Given the description of an element on the screen output the (x, y) to click on. 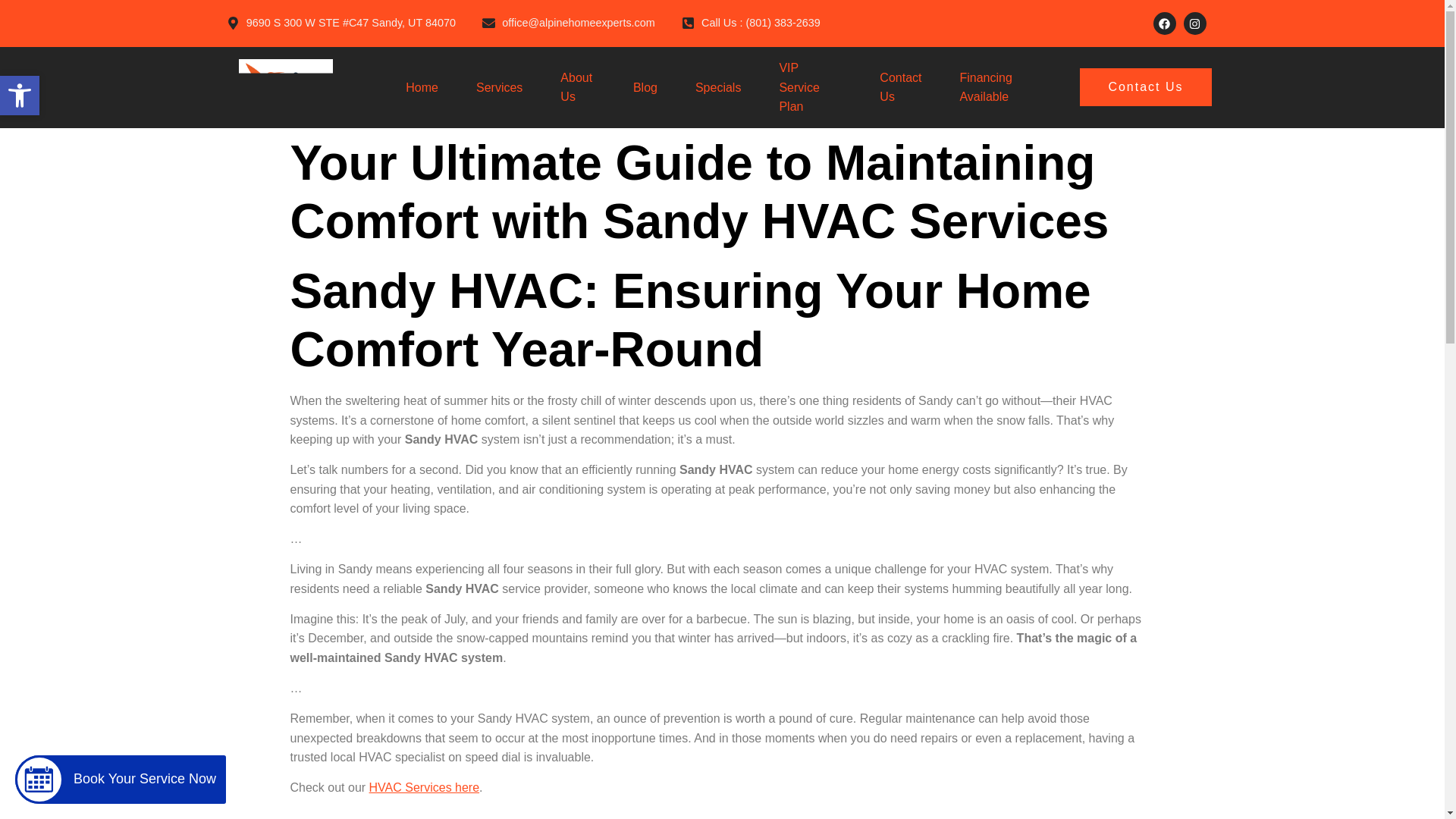
Contact Us (1145, 86)
Financing Available (994, 87)
HVAC Services here (424, 787)
Our Services (424, 787)
Accessibility Tools (19, 95)
VIP Service Plan (809, 87)
Services (499, 87)
